Given the description of an element on the screen output the (x, y) to click on. 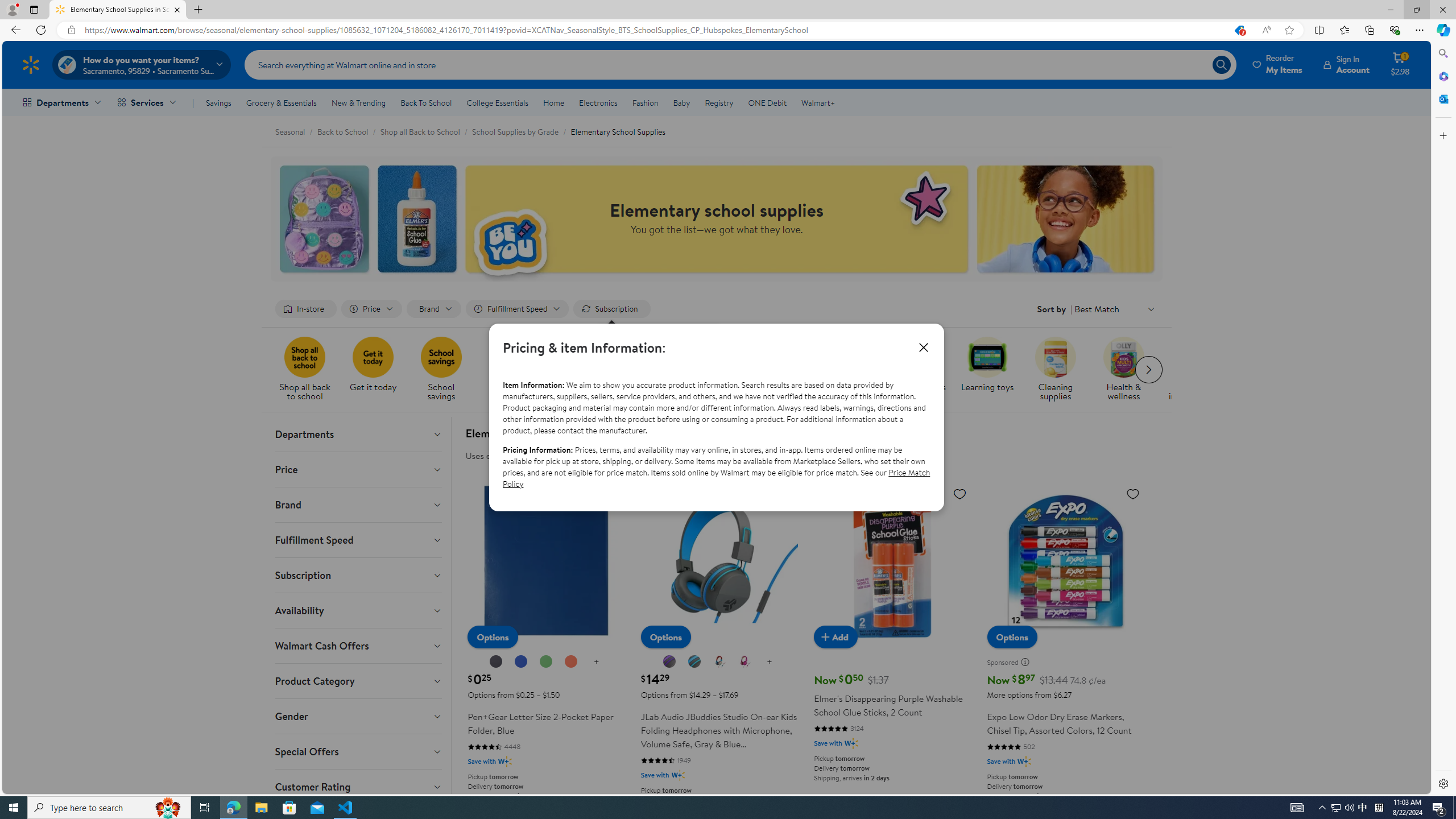
Close dialog (923, 346)
Price Match Policy (716, 477)
